Given the description of an element on the screen output the (x, y) to click on. 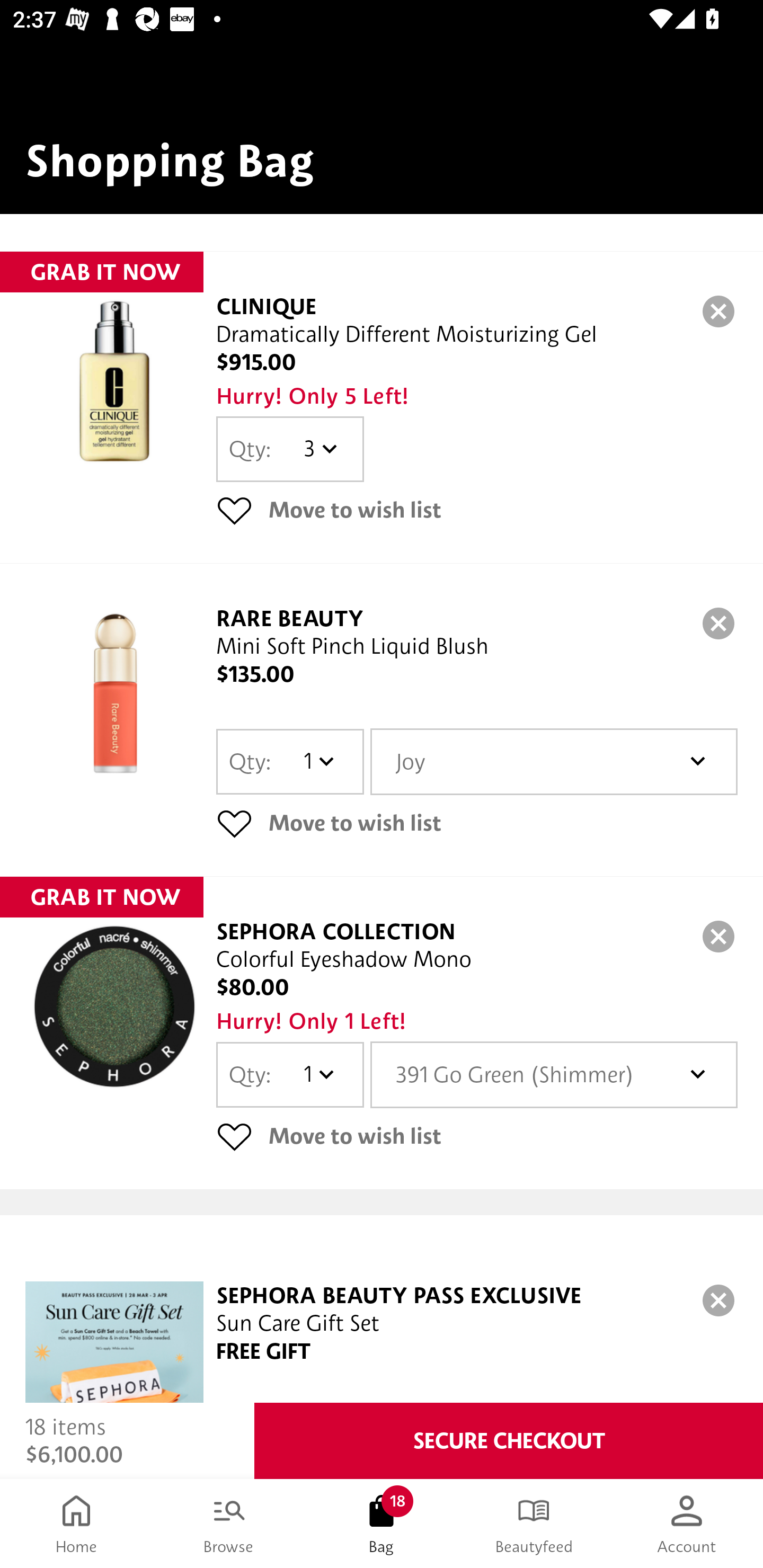
3 (317, 449)
Move to wish list (476, 509)
Joy (553, 761)
1 (317, 761)
Move to wish list (476, 822)
391 Go Green (Shimmer) (553, 1074)
1 (317, 1074)
Move to wish list (476, 1135)
SECURE CHECKOUT (508, 1440)
Home (76, 1523)
Browse (228, 1523)
Beautyfeed (533, 1523)
Account (686, 1523)
